Given the description of an element on the screen output the (x, y) to click on. 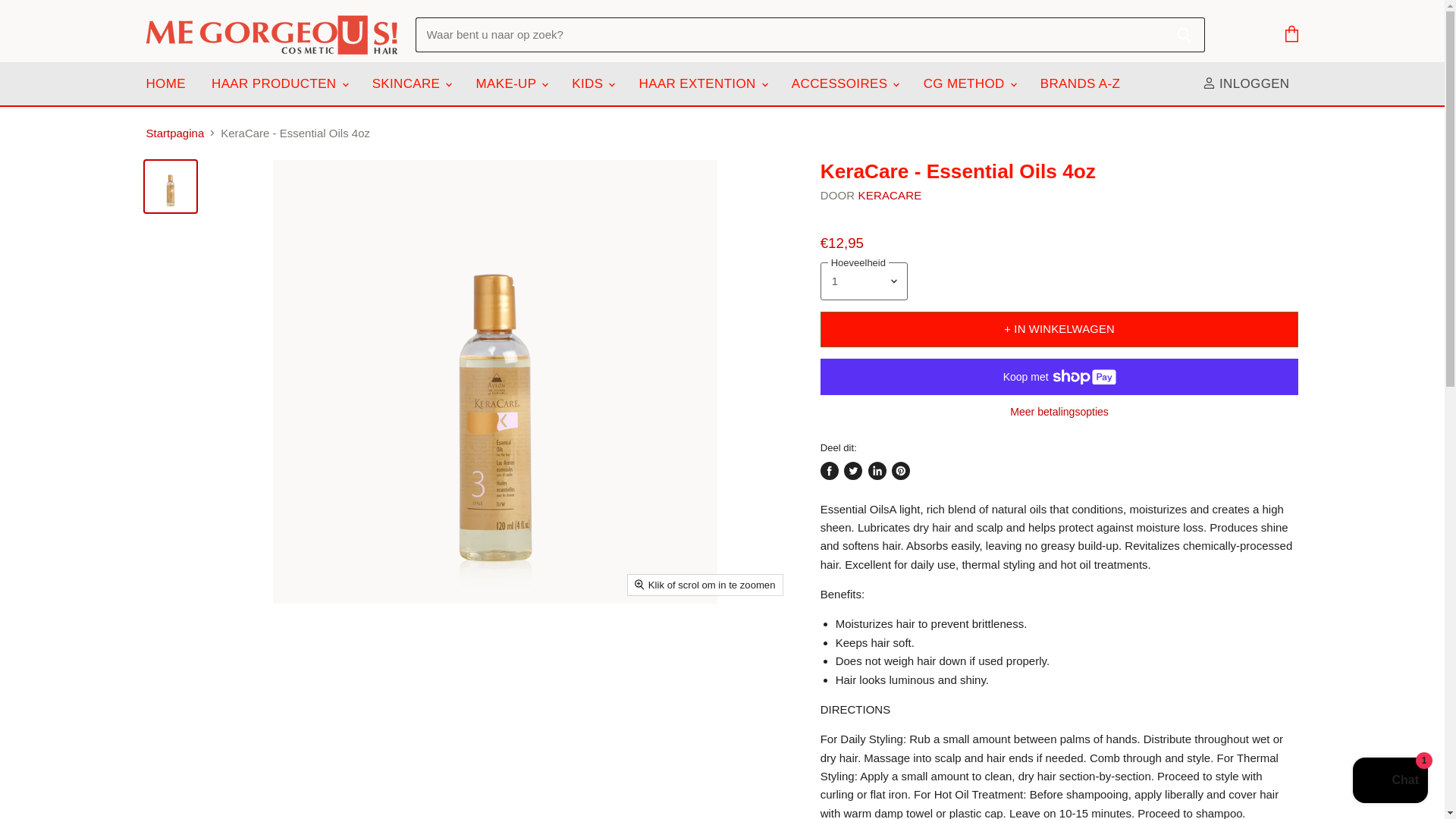
HOME (165, 83)
webshop-chat van Shopify (1390, 781)
HAAR PRODUCTEN (278, 83)
ACCOUNT ICOON (1208, 82)
KeraCare (890, 195)
